Given the description of an element on the screen output the (x, y) to click on. 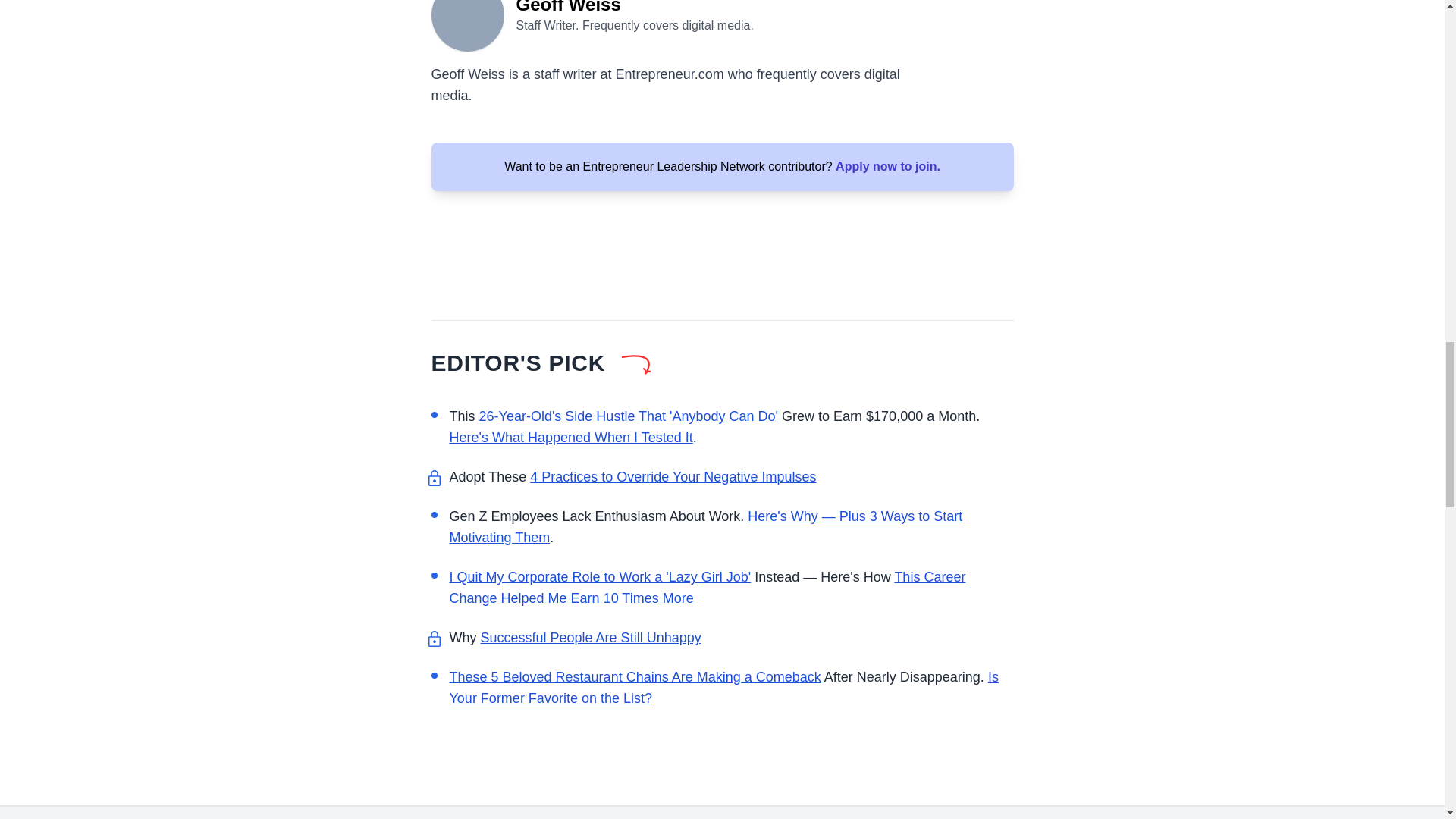
Geoff Weiss (466, 25)
